Given the description of an element on the screen output the (x, y) to click on. 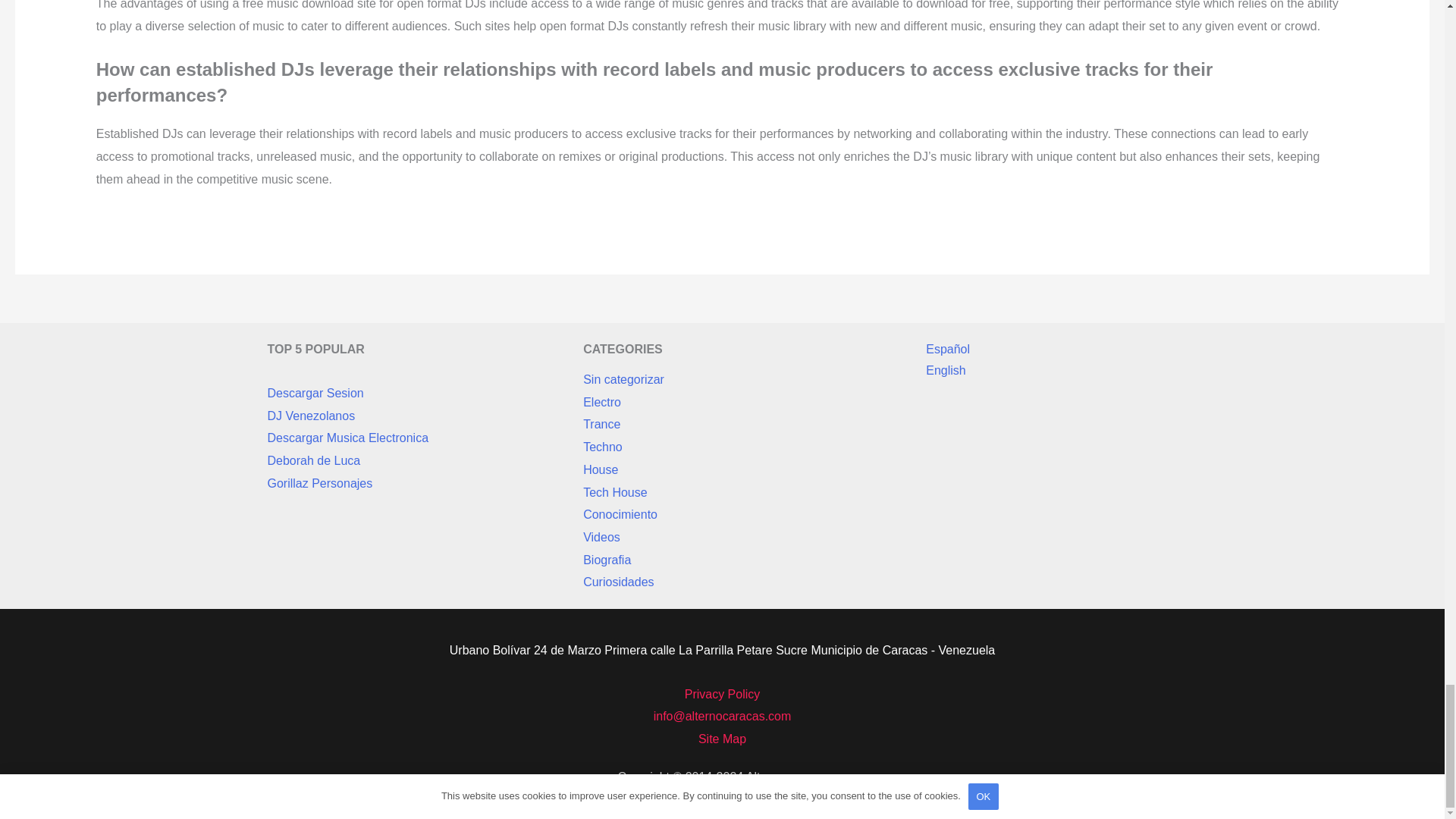
DJ Venezolanos (310, 415)
Electro (602, 402)
Gorillaz Personajes (319, 482)
Descargar Sesion (314, 392)
Techno (603, 446)
Trance (601, 424)
Sin categorizar (623, 379)
Deborah de Luca (312, 460)
Descargar Musica Electronica (347, 437)
